Given the description of an element on the screen output the (x, y) to click on. 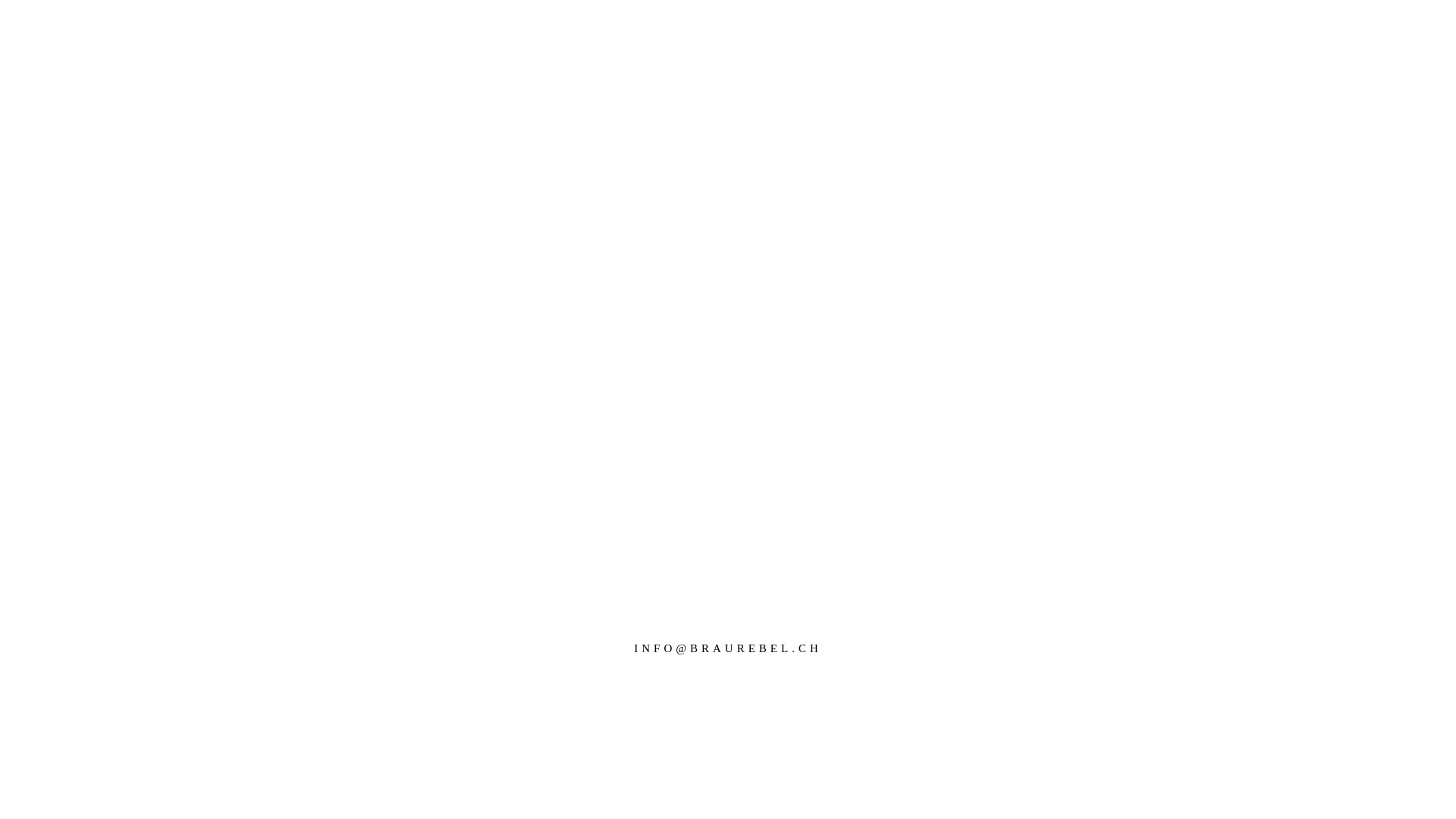
INFO@BRAUREBEL.CH Element type: text (727, 648)
